Given the description of an element on the screen output the (x, y) to click on. 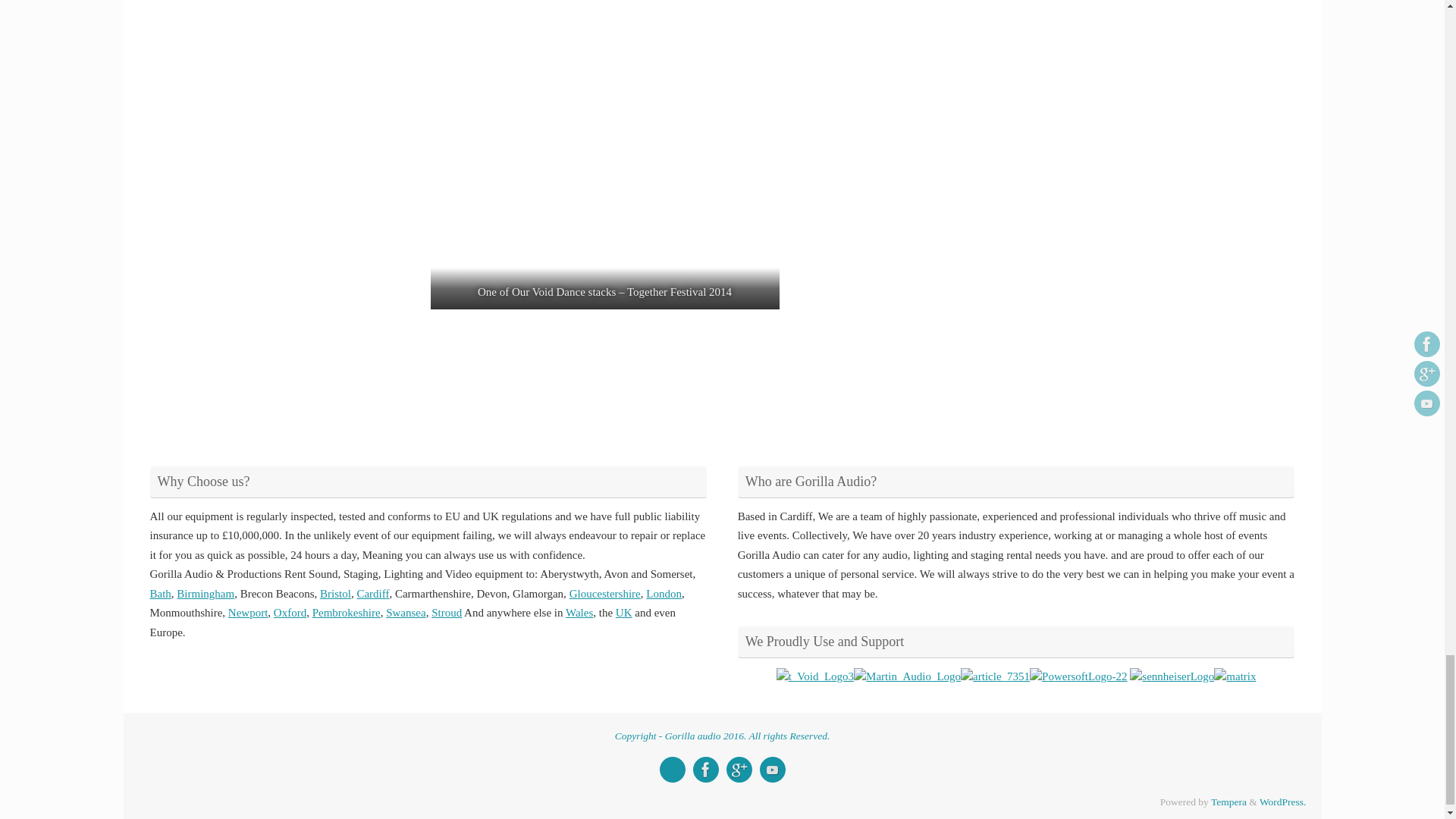
Bath (160, 593)
Bristol (335, 593)
Birmingham (205, 593)
